Given the description of an element on the screen output the (x, y) to click on. 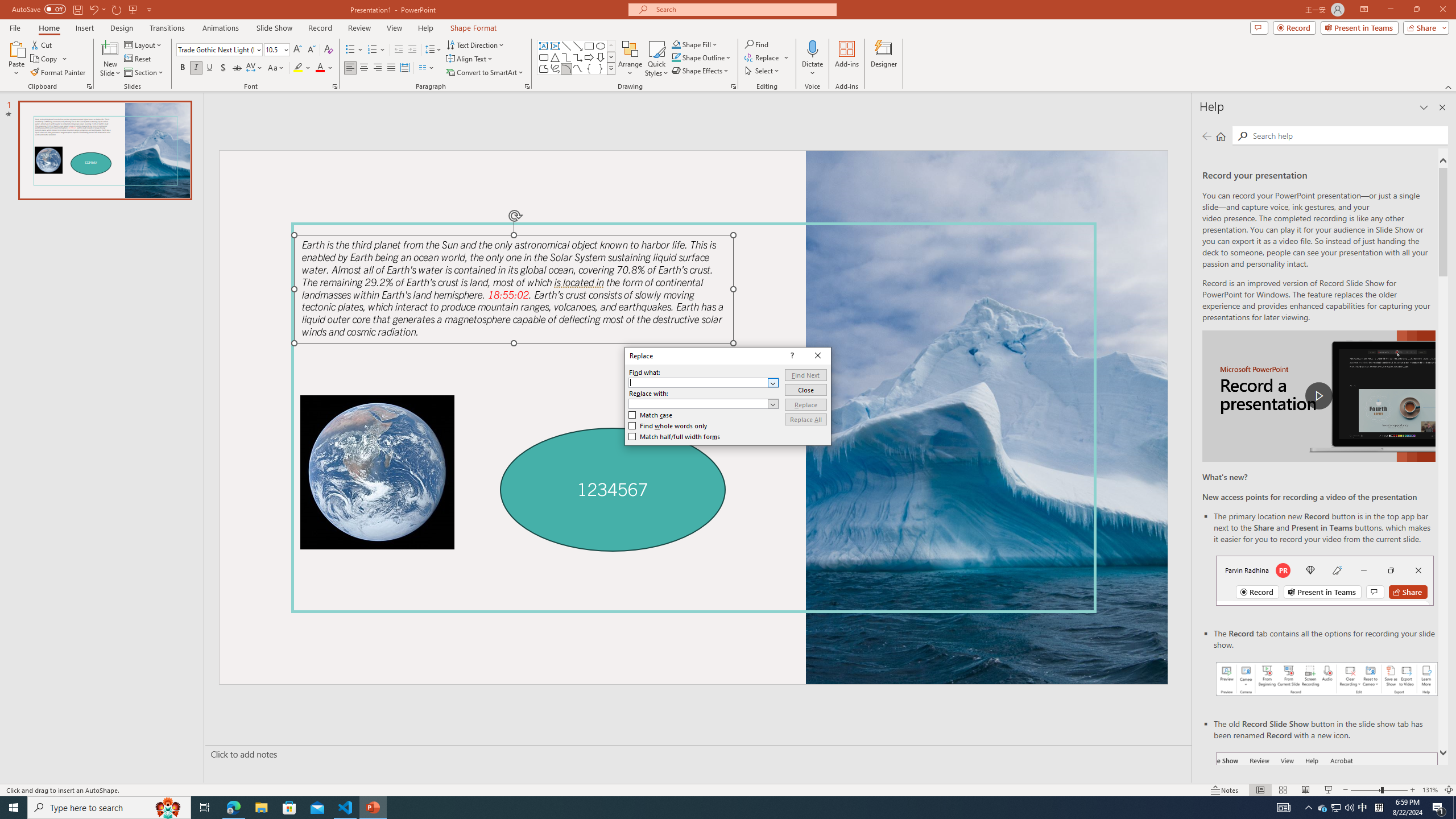
Decrease Font Size (310, 49)
Search (1241, 136)
Arc (566, 68)
Search (1347, 135)
Distributed (404, 67)
Replace with (703, 403)
Match half/full width forms (674, 436)
Left Brace (589, 68)
AutomationID: 4105 (1283, 807)
Type here to search (108, 807)
